Given the description of an element on the screen output the (x, y) to click on. 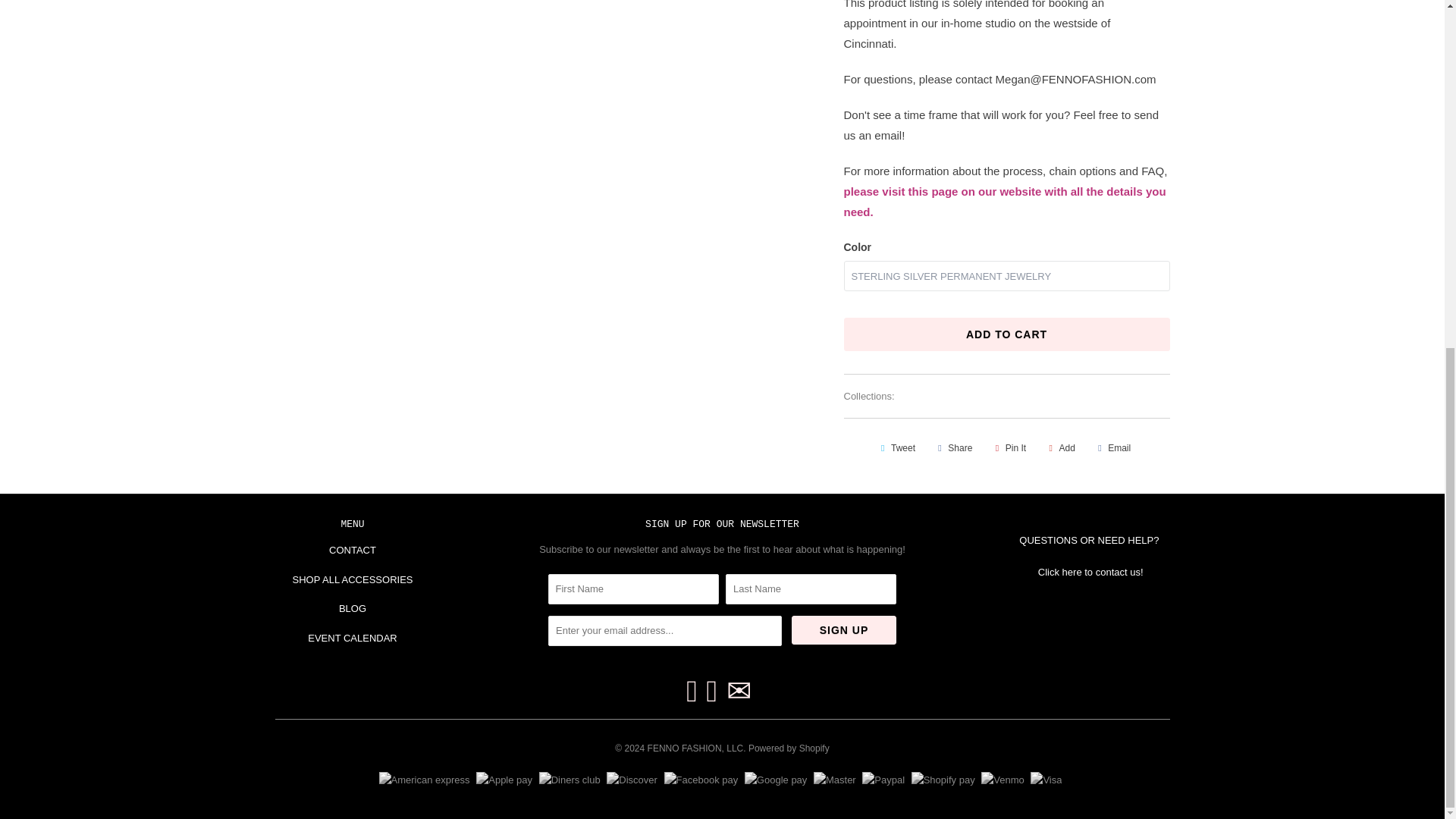
CONTACT US (1090, 540)
CONTACT US (1091, 572)
Sign Up (844, 629)
Share this on Facebook (952, 447)
Email FENNO FASHION, LLC (739, 691)
Share this on Pinterest (1008, 447)
Share this on Twitter (896, 447)
Email this to a friend (1112, 447)
